Given the description of an element on the screen output the (x, y) to click on. 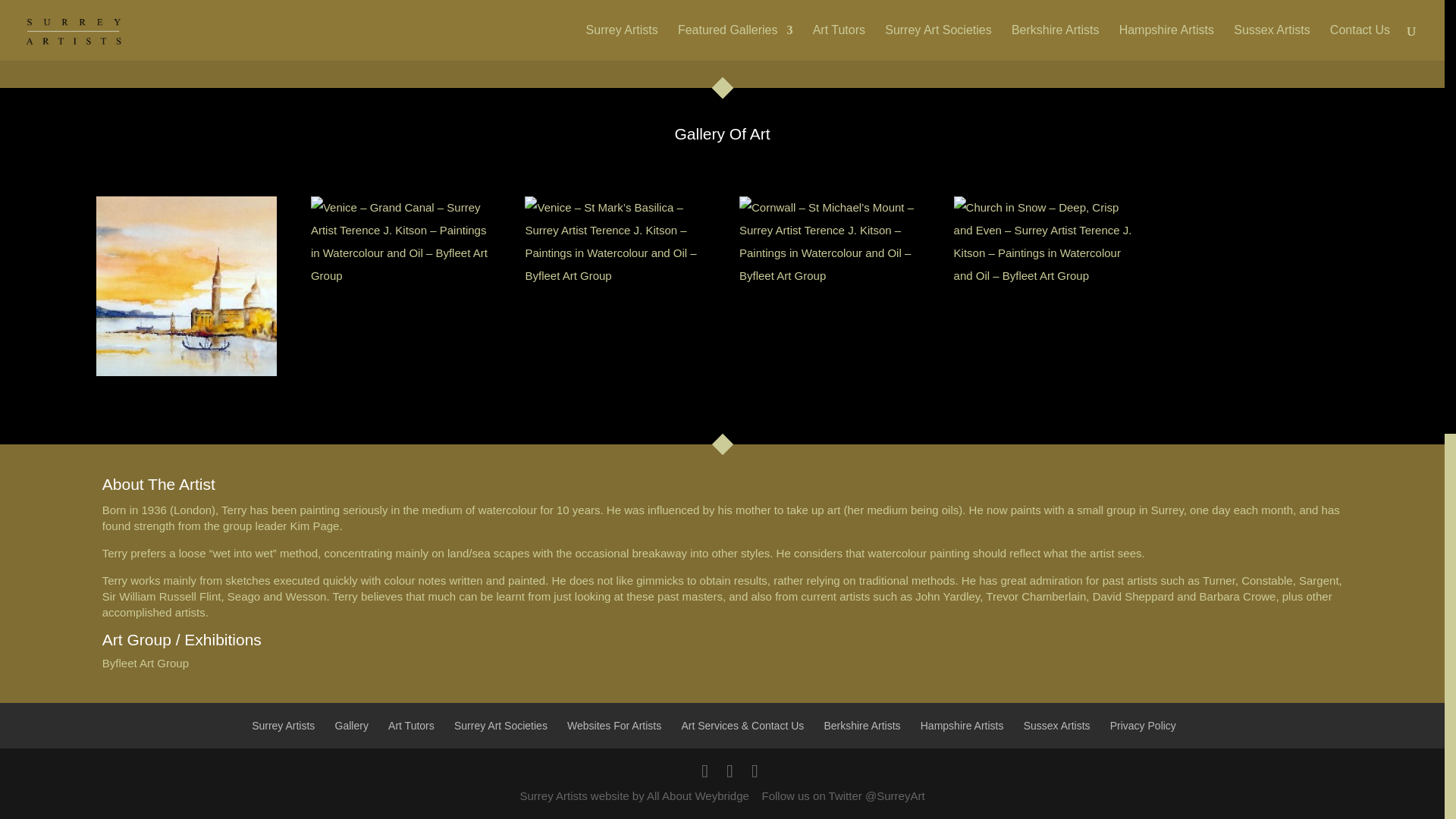
Gallery (351, 725)
Art Tutors (410, 725)
Surrey Artists (282, 725)
Surrey Art Societies (500, 725)
